Given the description of an element on the screen output the (x, y) to click on. 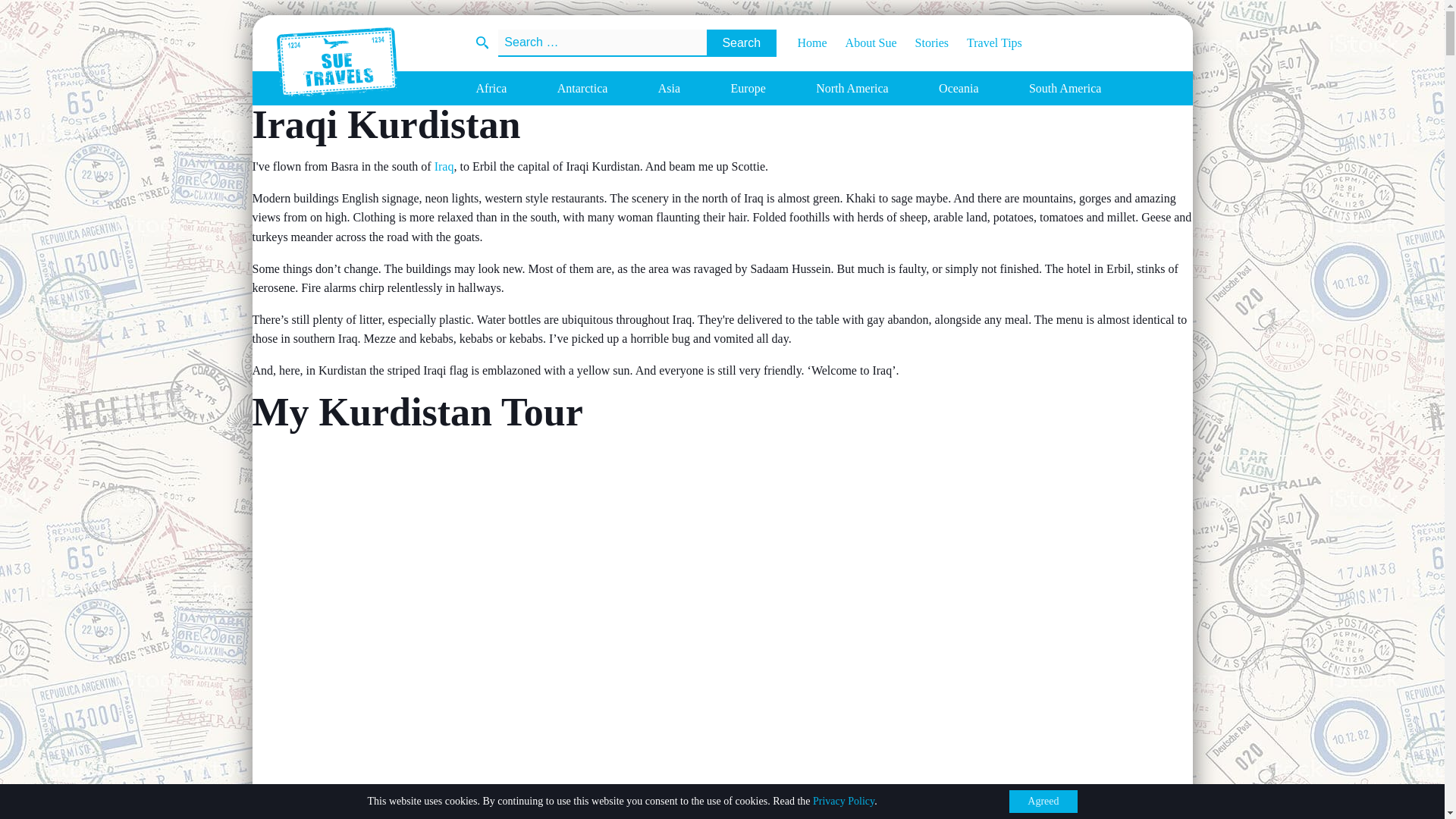
Agreed (1043, 801)
South America (1065, 88)
Search (741, 42)
Europe (747, 88)
Africa (491, 88)
North America (851, 88)
Iraq (443, 165)
Travel Tips (985, 43)
Antarctica (582, 88)
Search (741, 42)
